Given the description of an element on the screen output the (x, y) to click on. 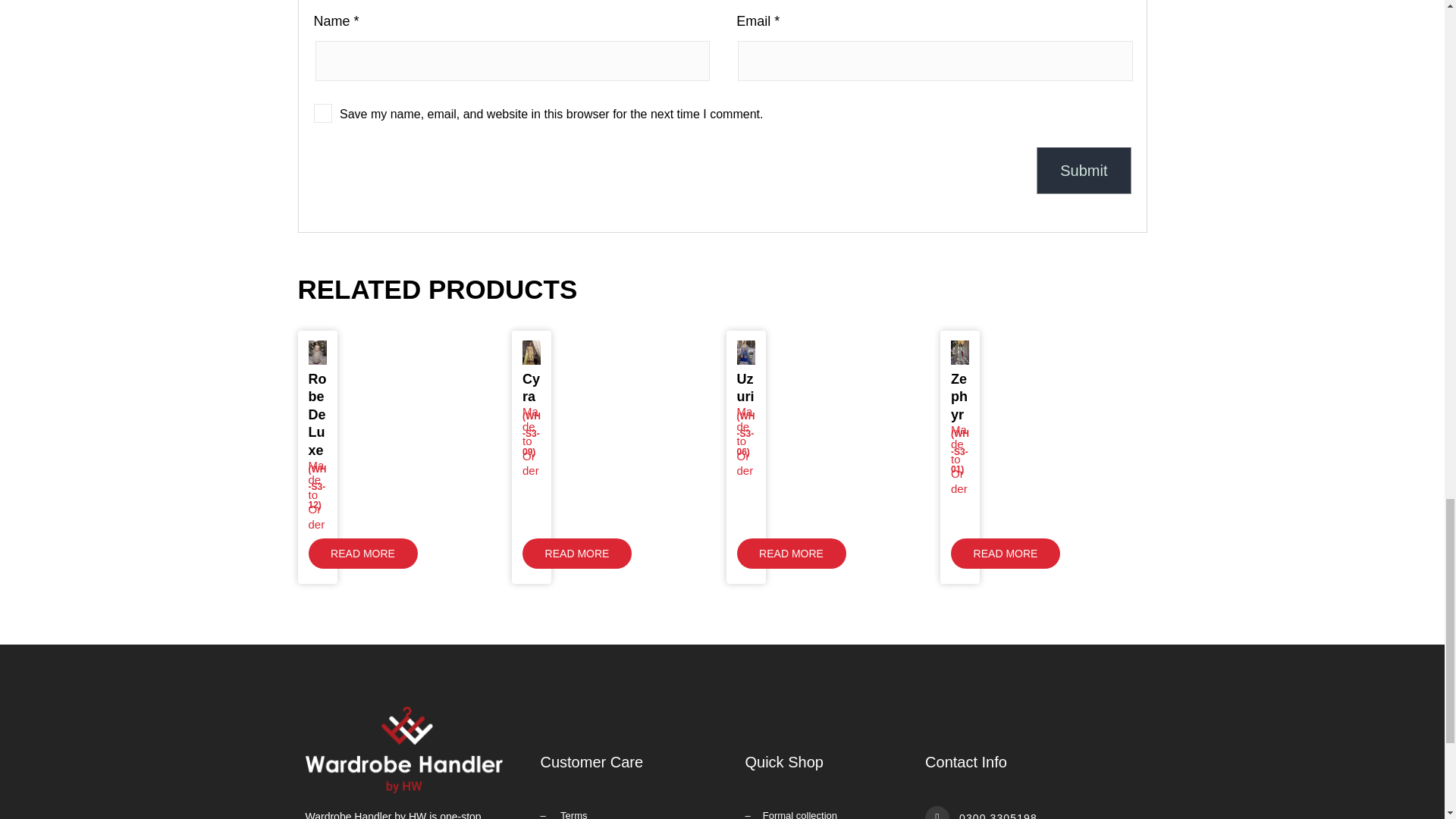
yes (322, 113)
Submit (1083, 170)
